Given the description of an element on the screen output the (x, y) to click on. 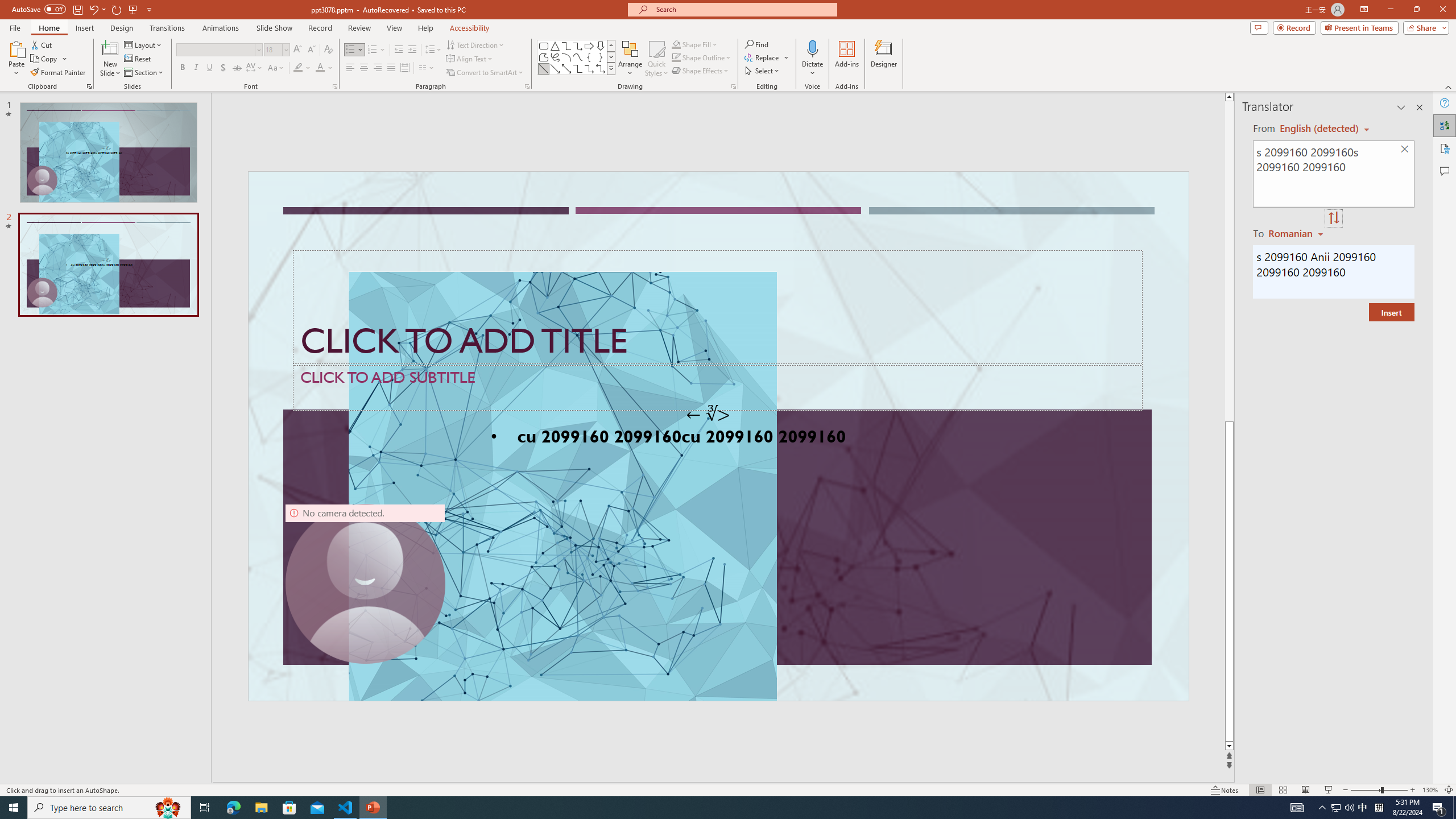
An abstract genetic concept (718, 436)
Zoom 130% (1430, 790)
